Given the description of an element on the screen output the (x, y) to click on. 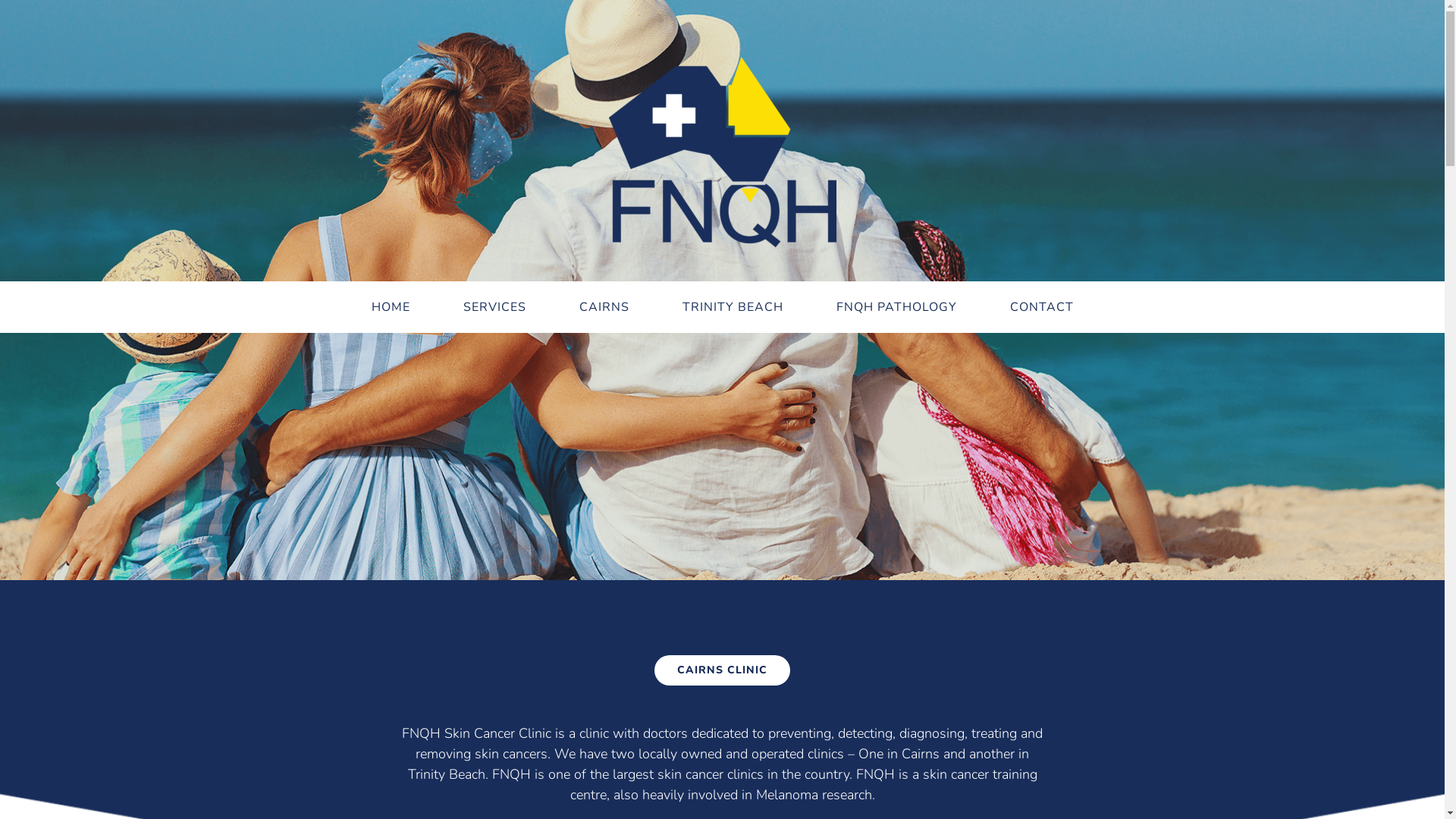
FNQH PATHOLOGY Element type: text (896, 306)
CAIRNS Element type: text (603, 306)
CAIRNS CLINIC Element type: text (722, 670)
CONTACT Element type: text (1040, 306)
HOME Element type: text (390, 306)
SERVICES Element type: text (494, 306)
TRINITY BEACH Element type: text (732, 306)
